Given the description of an element on the screen output the (x, y) to click on. 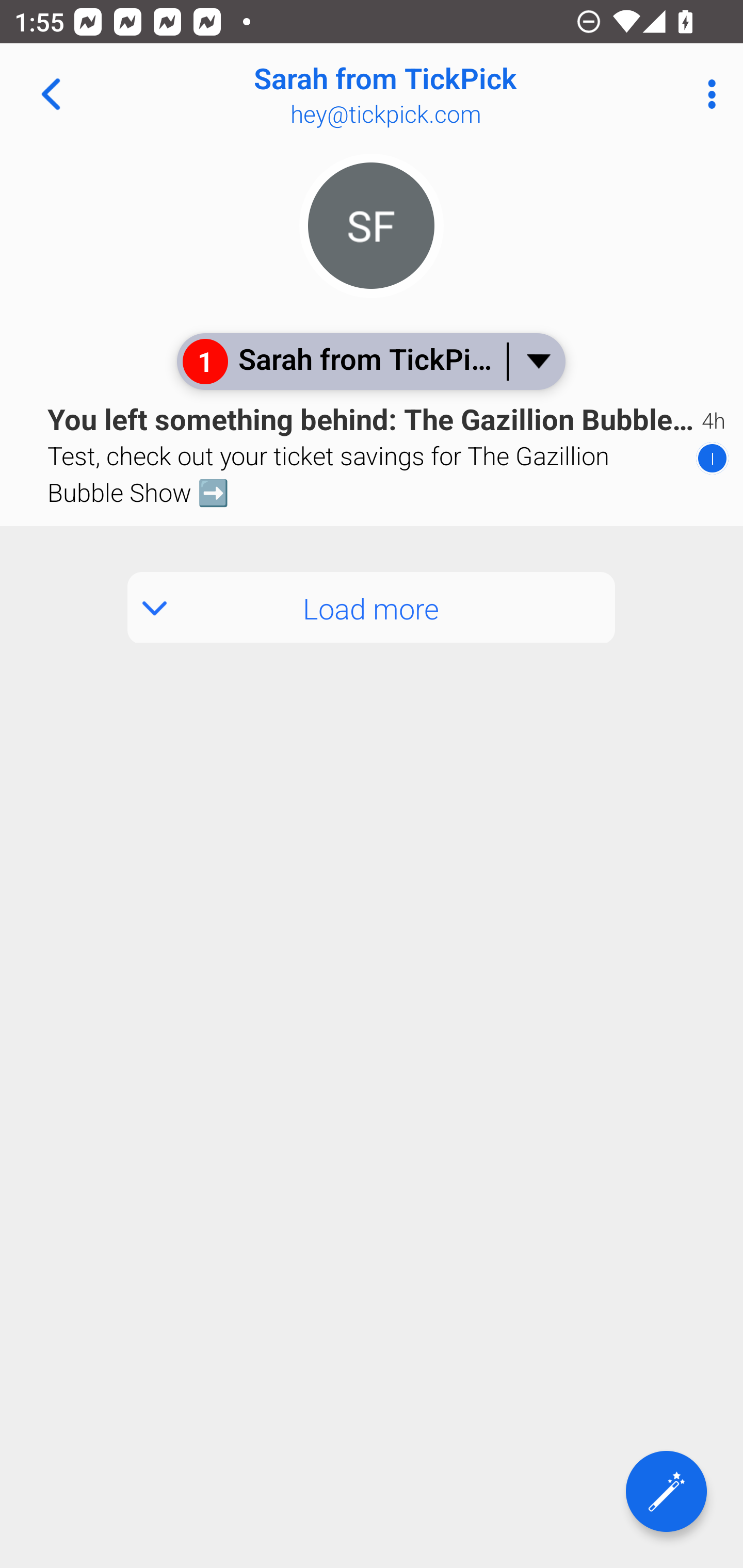
Navigate up (50, 93)
Sarah from TickPick hey@tickpick.com (436, 93)
More Options (706, 93)
1 Sarah from TickPick & You (370, 361)
Load more (371, 607)
